Given the description of an element on the screen output the (x, y) to click on. 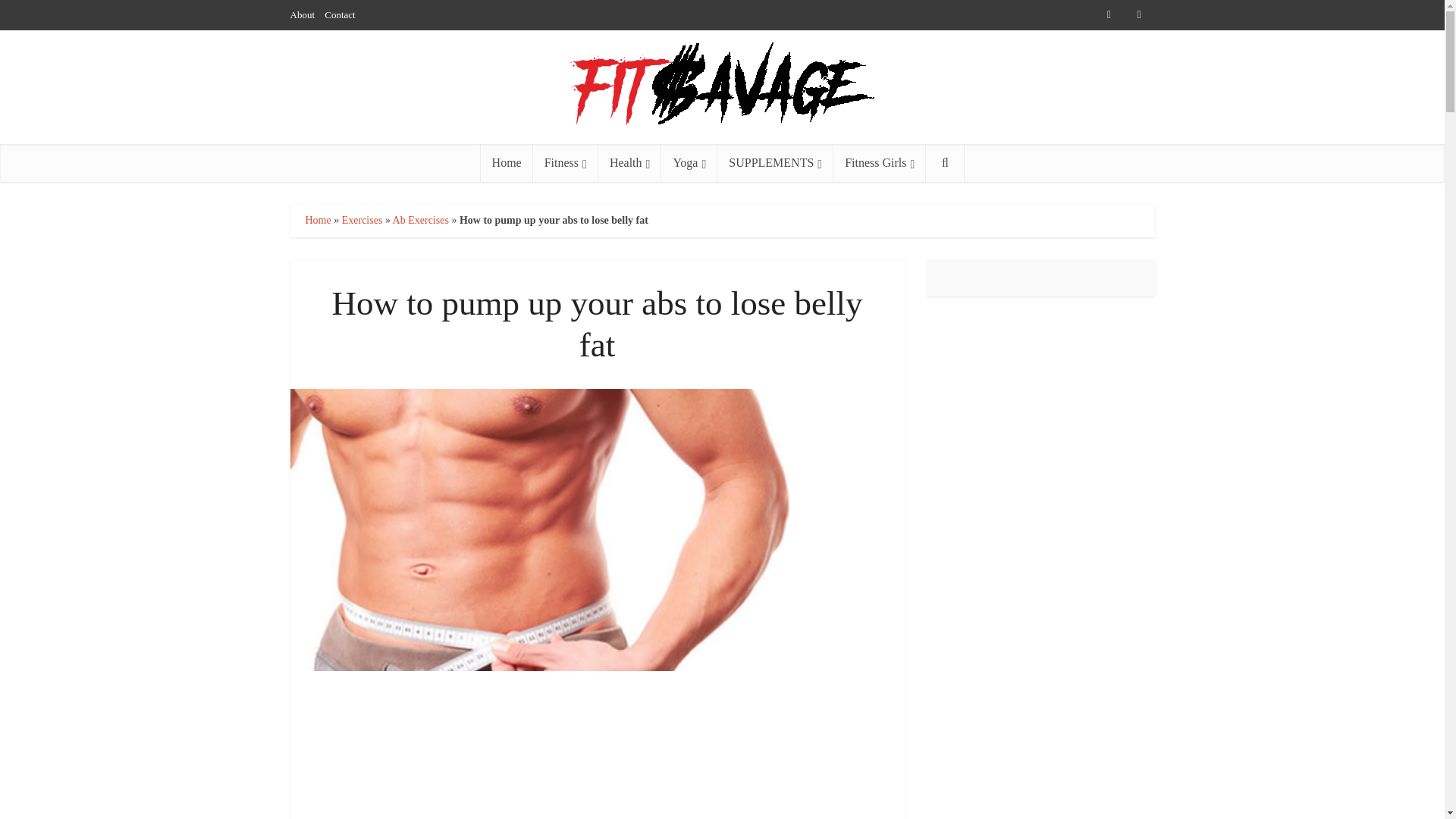
Advertisement (597, 767)
Contact (339, 14)
Home (506, 162)
Yoga (689, 162)
Home (317, 220)
Fitness Girls (879, 162)
Health (630, 162)
About (301, 14)
Ab Exercises (420, 220)
Exercises (362, 220)
SUPPLEMENTS (774, 162)
Fitness (565, 162)
